Given the description of an element on the screen output the (x, y) to click on. 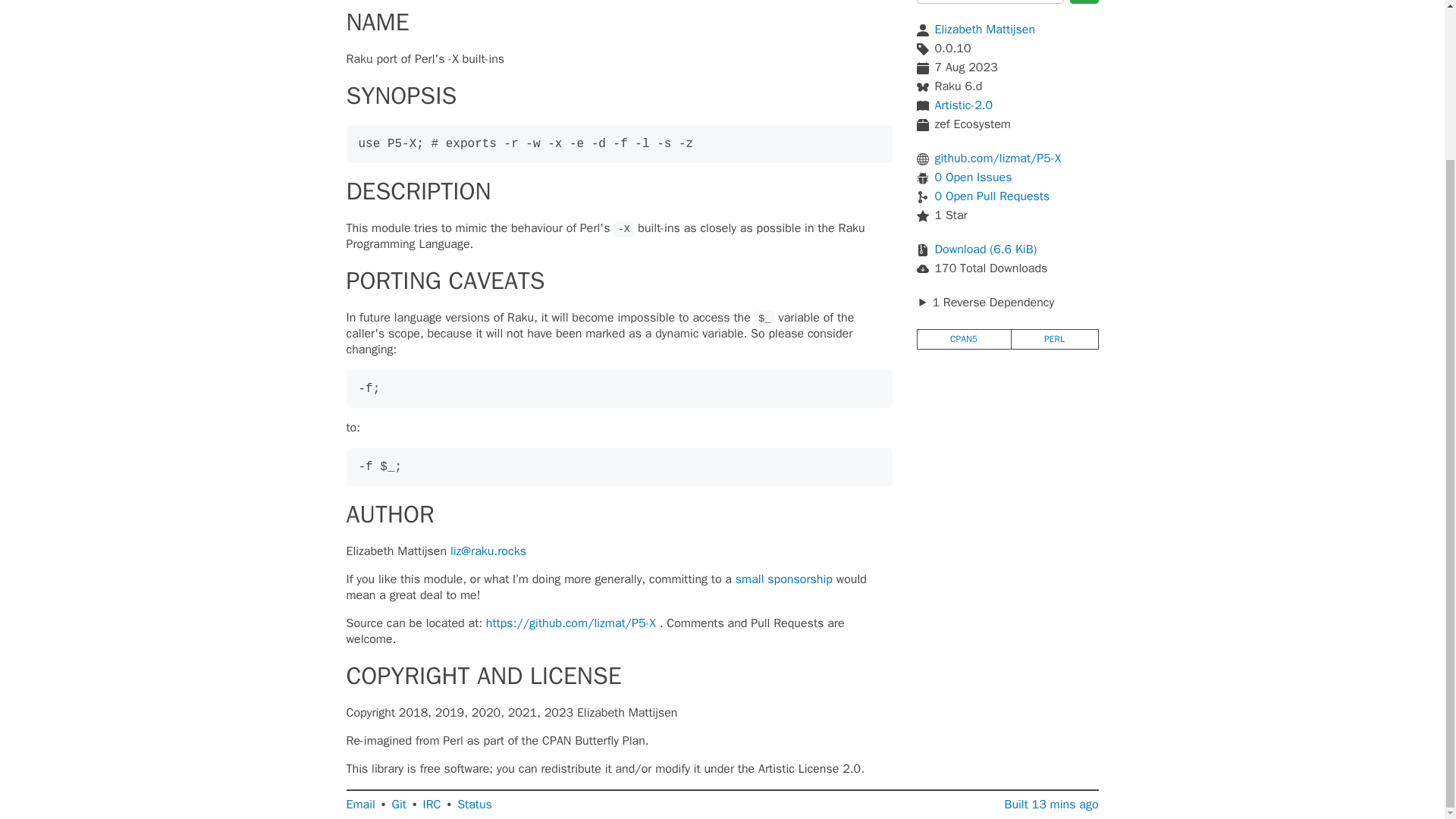
Git (398, 804)
Email (360, 804)
IRC (432, 804)
Status (474, 804)
